Given the description of an element on the screen output the (x, y) to click on. 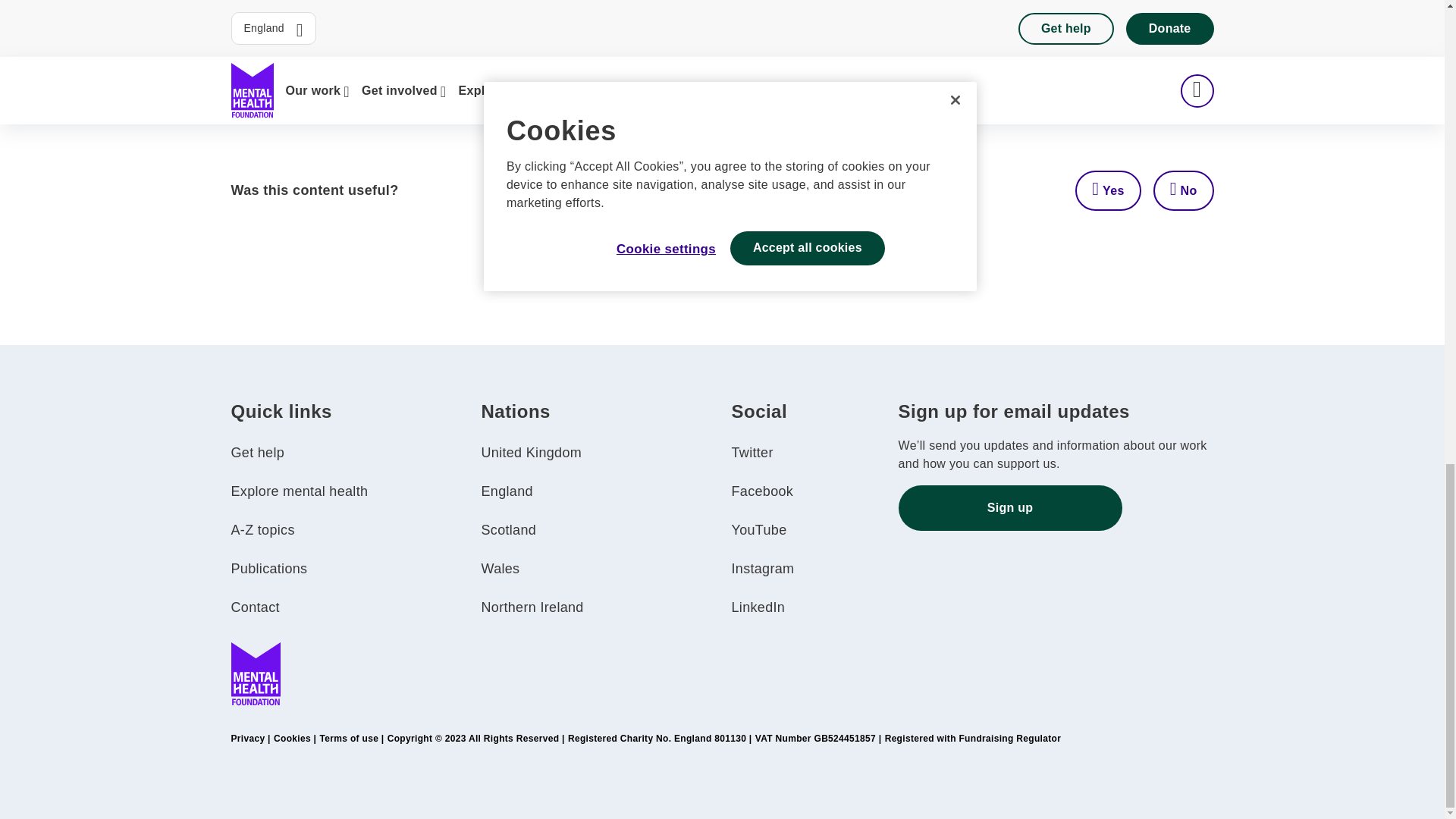
YouTube (758, 529)
Mental Health and Nature Policy Briefing (434, 83)
Facebook (761, 491)
Twitter (751, 452)
